Given the description of an element on the screen output the (x, y) to click on. 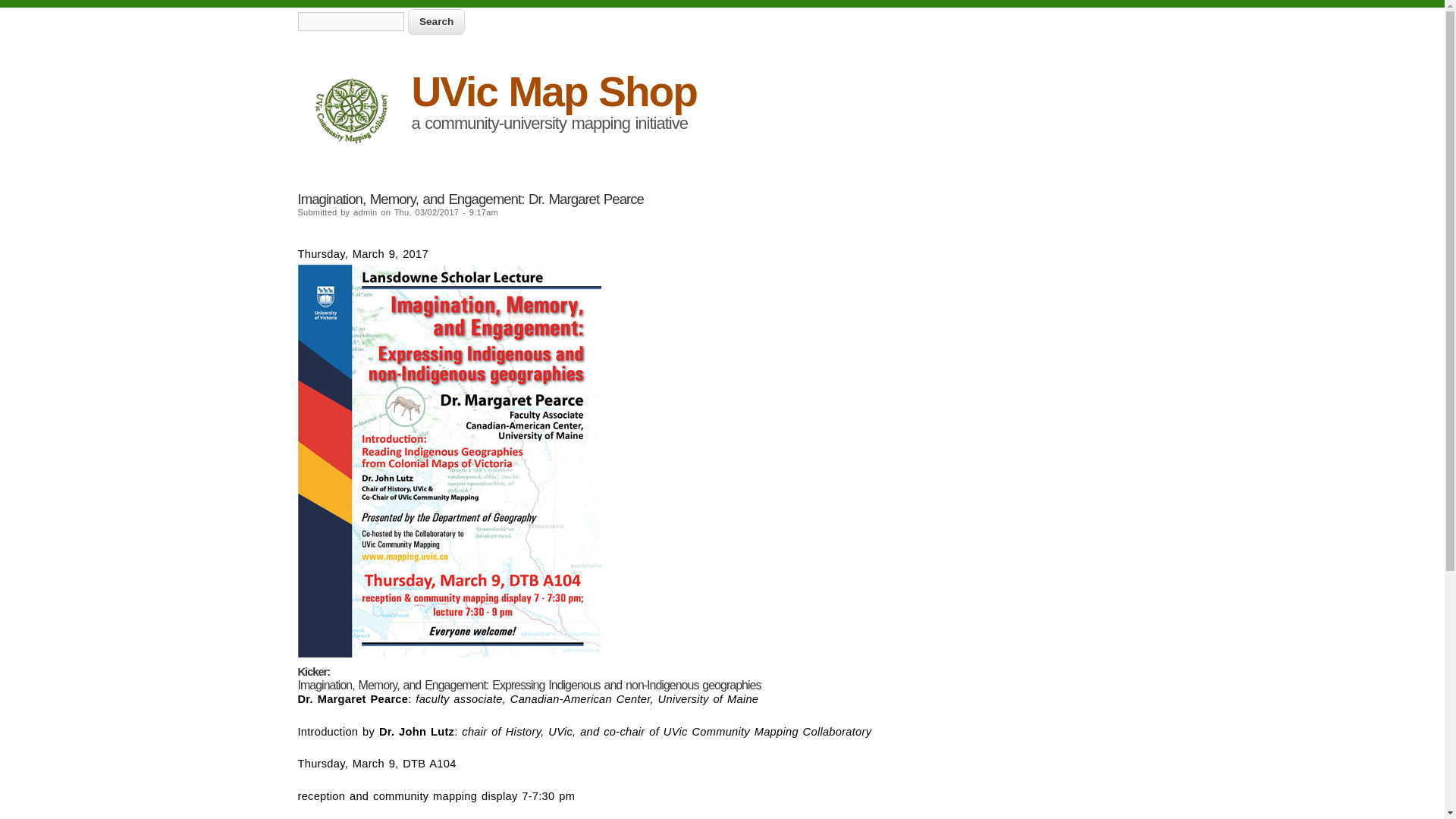
UVic Map Shop (552, 91)
Search (435, 22)
Enter the terms you wish to search for. (350, 21)
Home page (552, 91)
Search (435, 22)
